Given the description of an element on the screen output the (x, y) to click on. 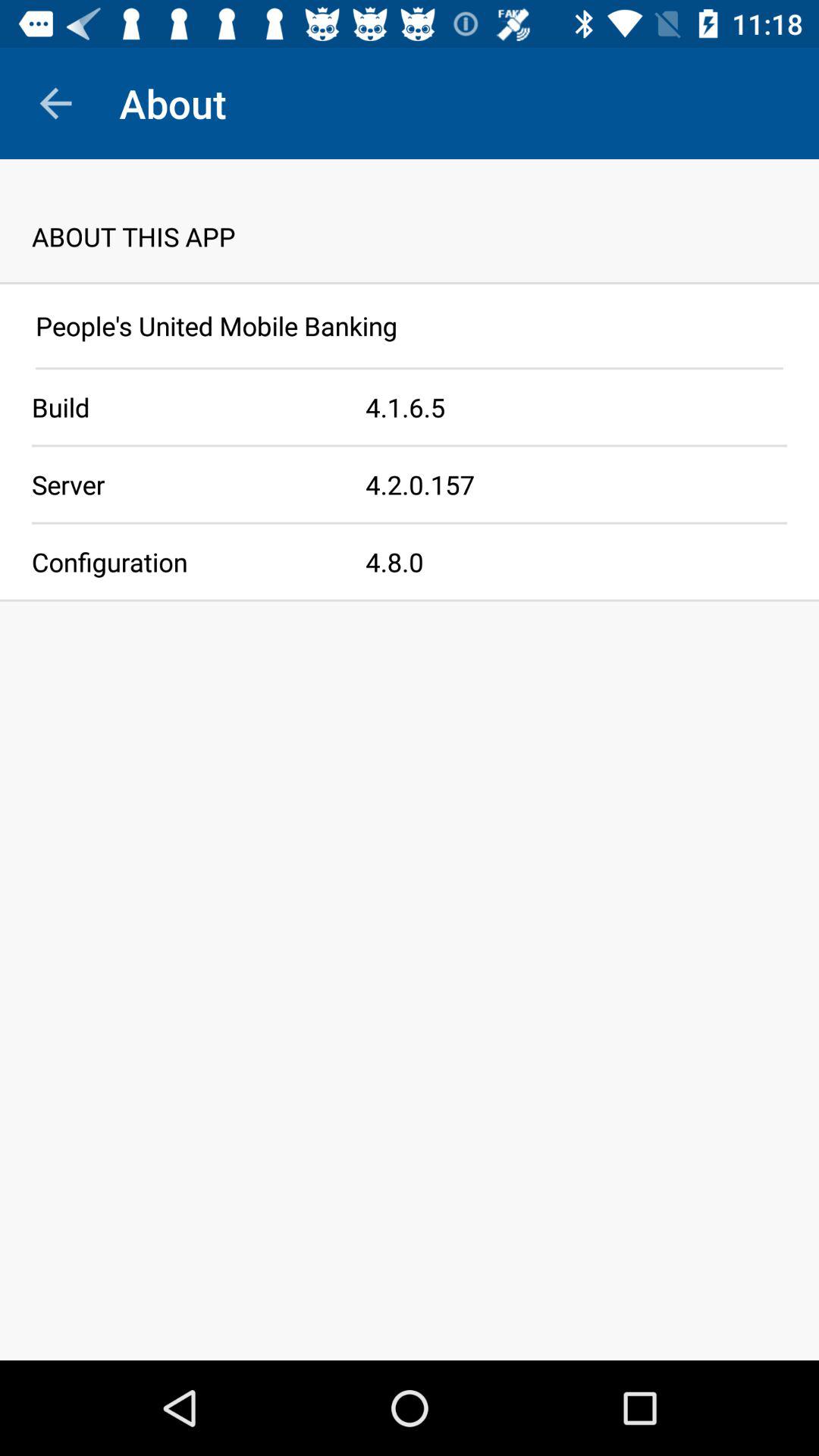
choose icon above the people s united (409, 283)
